Given the description of an element on the screen output the (x, y) to click on. 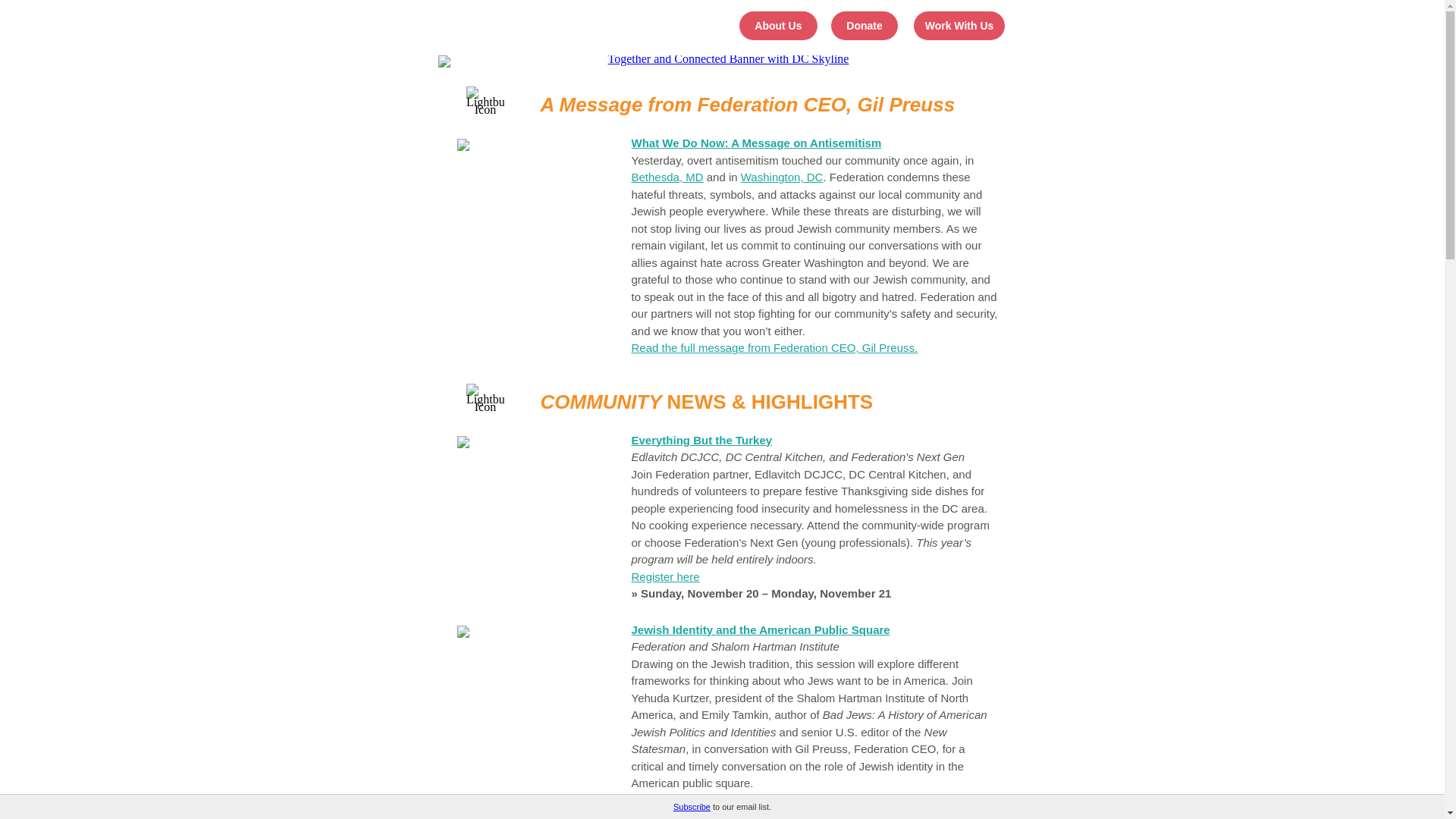
Read the full message from Federation CEO, Gil Preuss. (773, 347)
Jewish Identity and the American Public Square (759, 629)
Work With Us (960, 25)
Register here (664, 799)
Washington, DC (782, 176)
Register here (664, 576)
About Us (777, 25)
Bethesda, MD (666, 176)
Lightbulb Icon (484, 397)
Lightbulb Icon (484, 99)
